Given the description of an element on the screen output the (x, y) to click on. 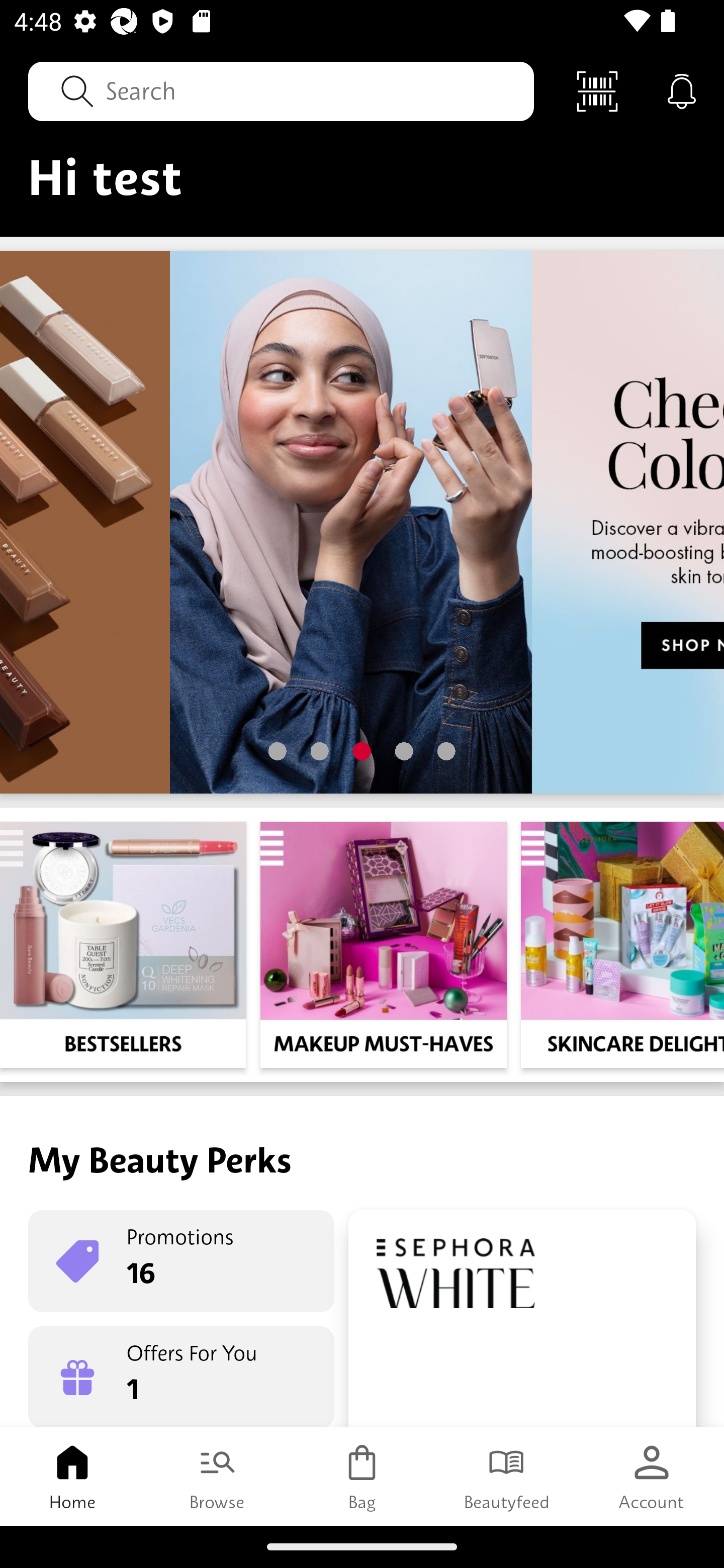
Scan Code (597, 90)
Notifications (681, 90)
Search (281, 90)
Promotions 16 (181, 1261)
Rewards Boutique 90 Pts (521, 1318)
Offers For You 1 (181, 1376)
Browse (216, 1475)
Bag (361, 1475)
Beautyfeed (506, 1475)
Account (651, 1475)
